Given the description of an element on the screen output the (x, y) to click on. 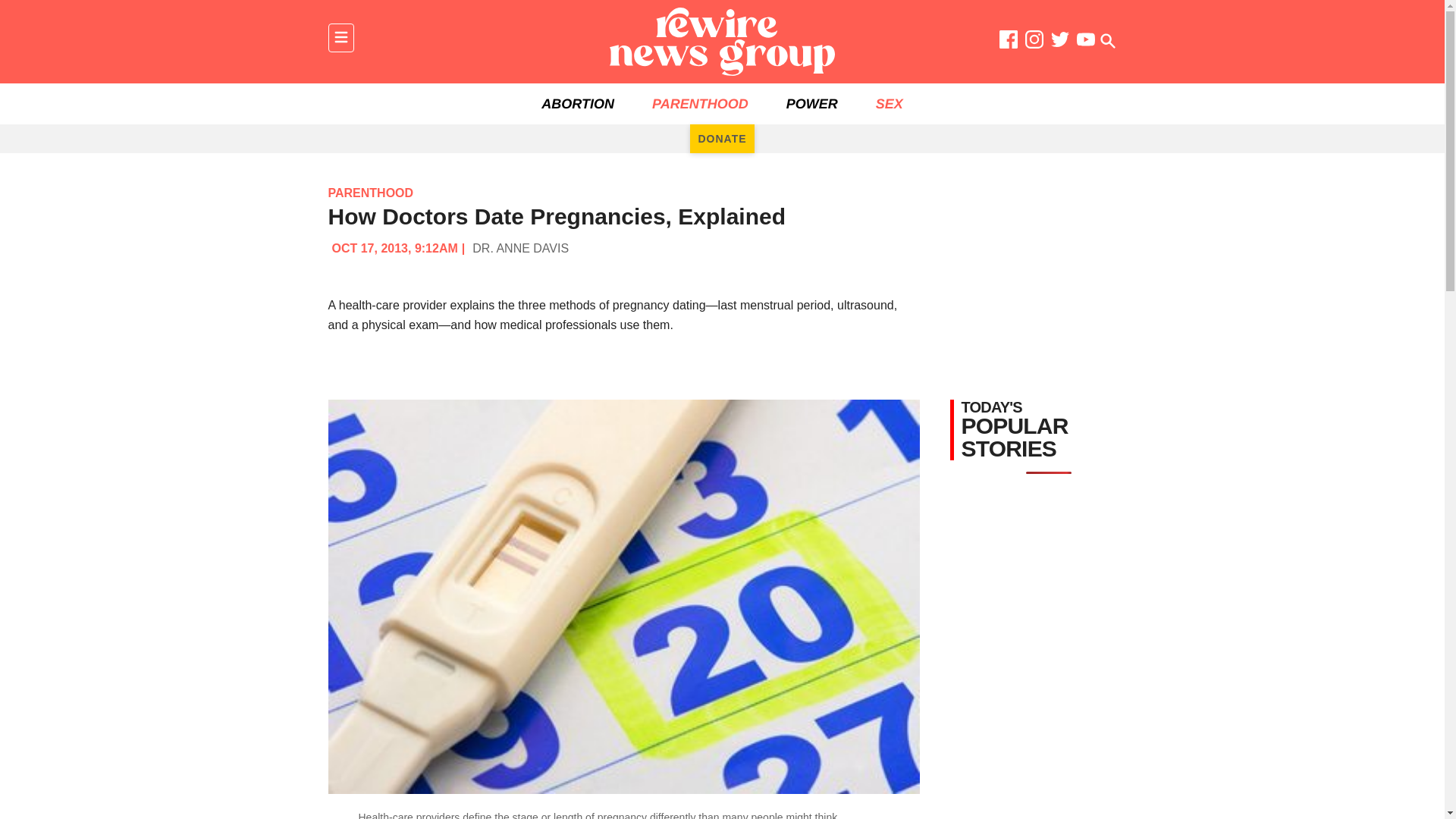
SEX (889, 103)
POWER (812, 103)
DONATE (722, 138)
ABORTION (577, 103)
PARENTHOOD (700, 103)
MENU (340, 37)
FACEBOOK (1007, 41)
INSTAGRAM (1034, 41)
TWITTER (1059, 41)
PARENTHOOD (370, 192)
DR. ANNE DAVIS (520, 247)
